Given the description of an element on the screen output the (x, y) to click on. 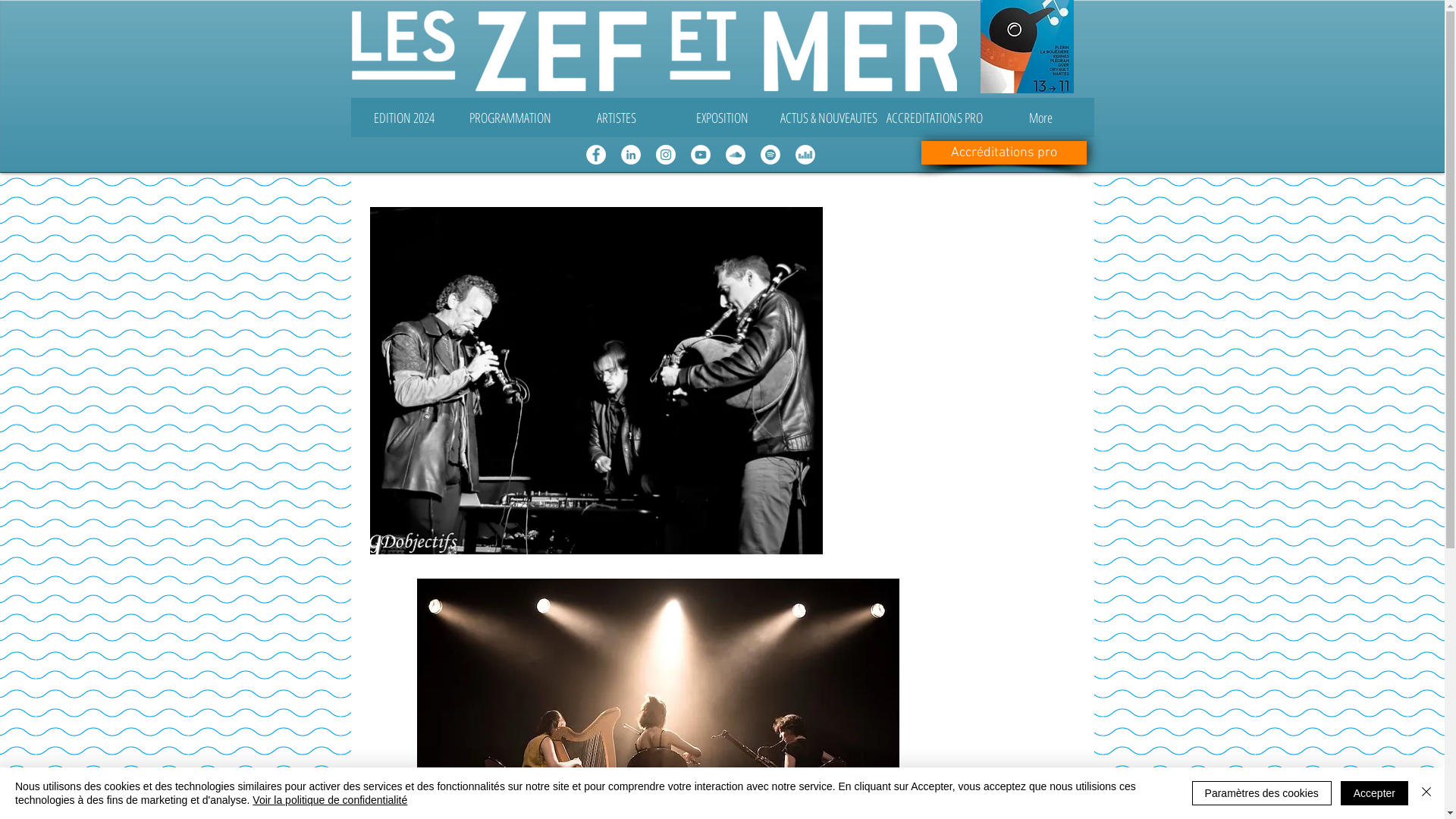
EDITION 2024 Element type: text (403, 117)
ACCREDITATIONS PRO Element type: text (934, 117)
Accepter Element type: text (1374, 793)
ACTUS & NOUVEAUTES Element type: text (828, 117)
